Given the description of an element on the screen output the (x, y) to click on. 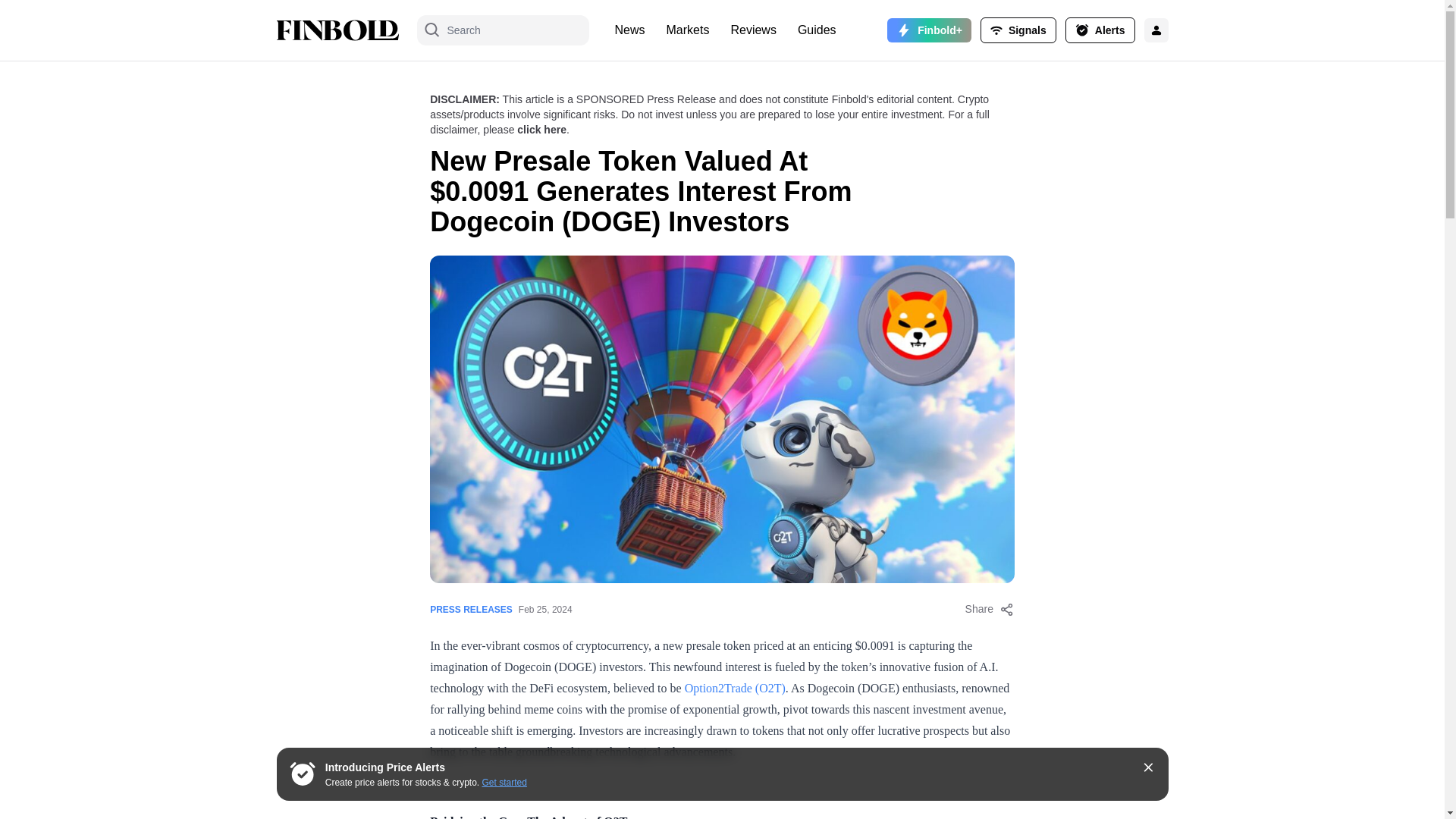
Guides (817, 29)
Account (1100, 30)
Account (1018, 30)
Alerts (1100, 30)
News (629, 29)
Reviews (752, 29)
Finbold (336, 29)
Signals (1018, 30)
Markets (688, 29)
